Given the description of an element on the screen output the (x, y) to click on. 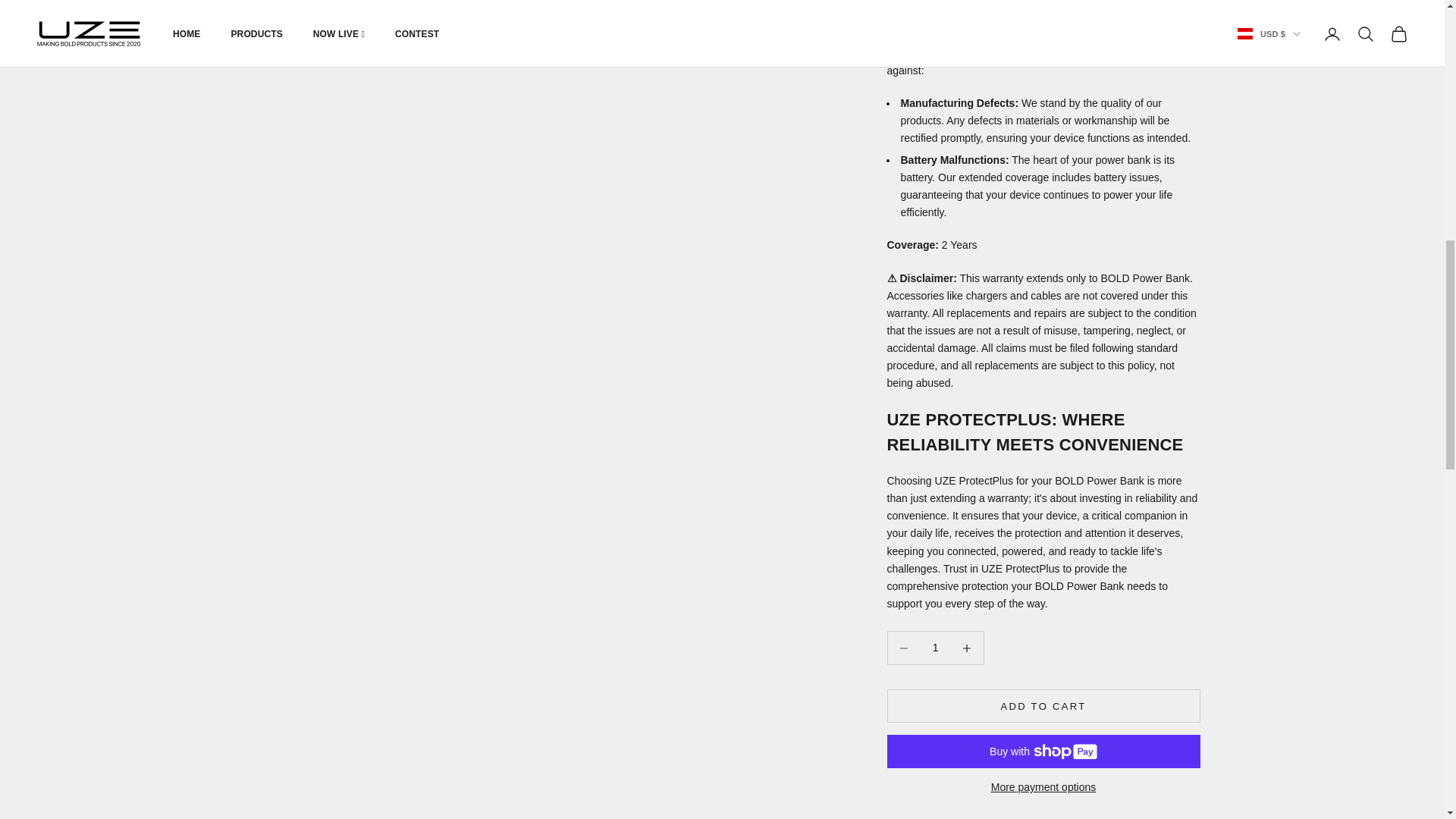
1 (935, 647)
